Given the description of an element on the screen output the (x, y) to click on. 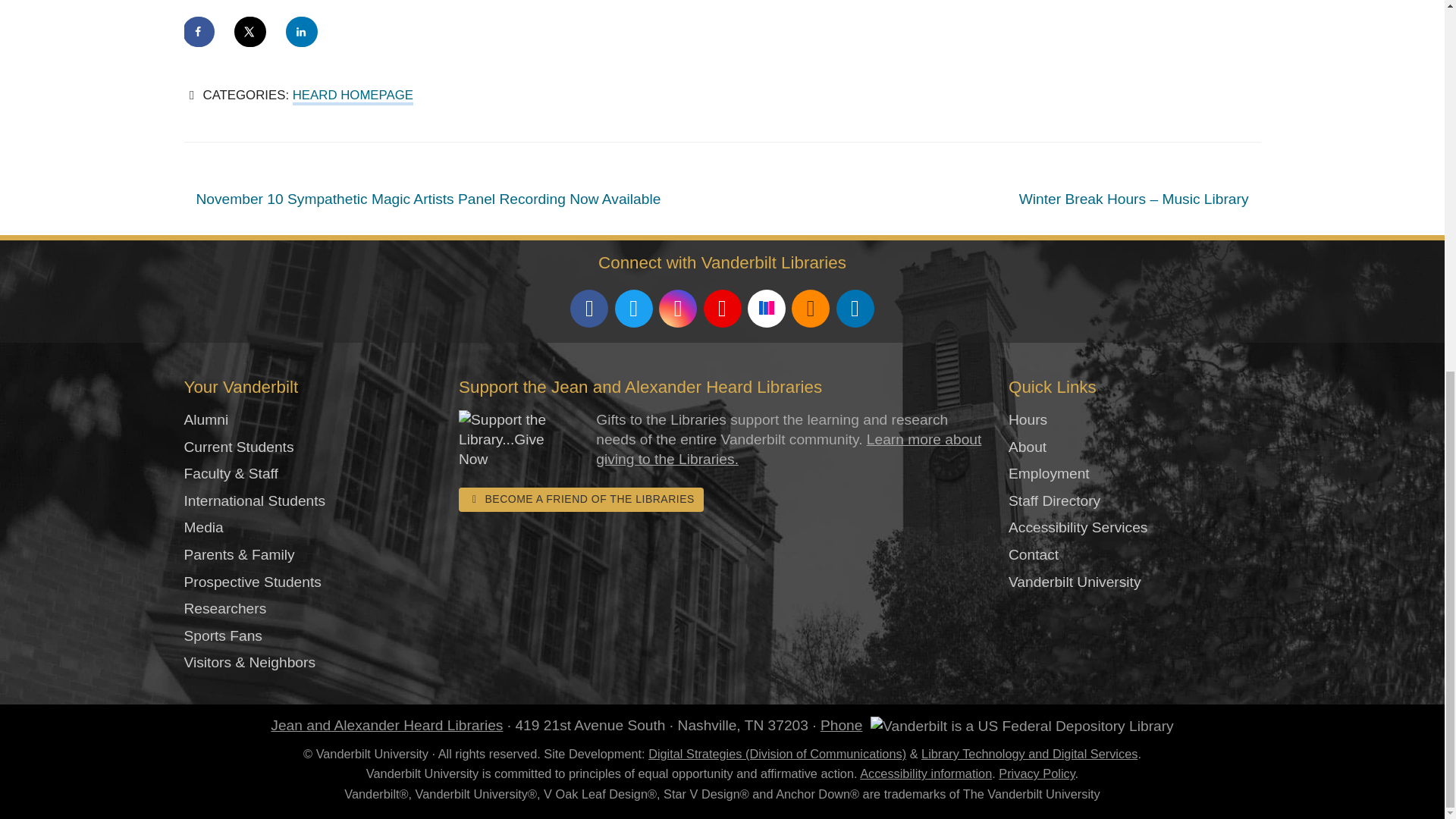
Share on LinkedIn (301, 31)
Share on X (250, 31)
Share on Facebook (198, 31)
